Given the description of an element on the screen output the (x, y) to click on. 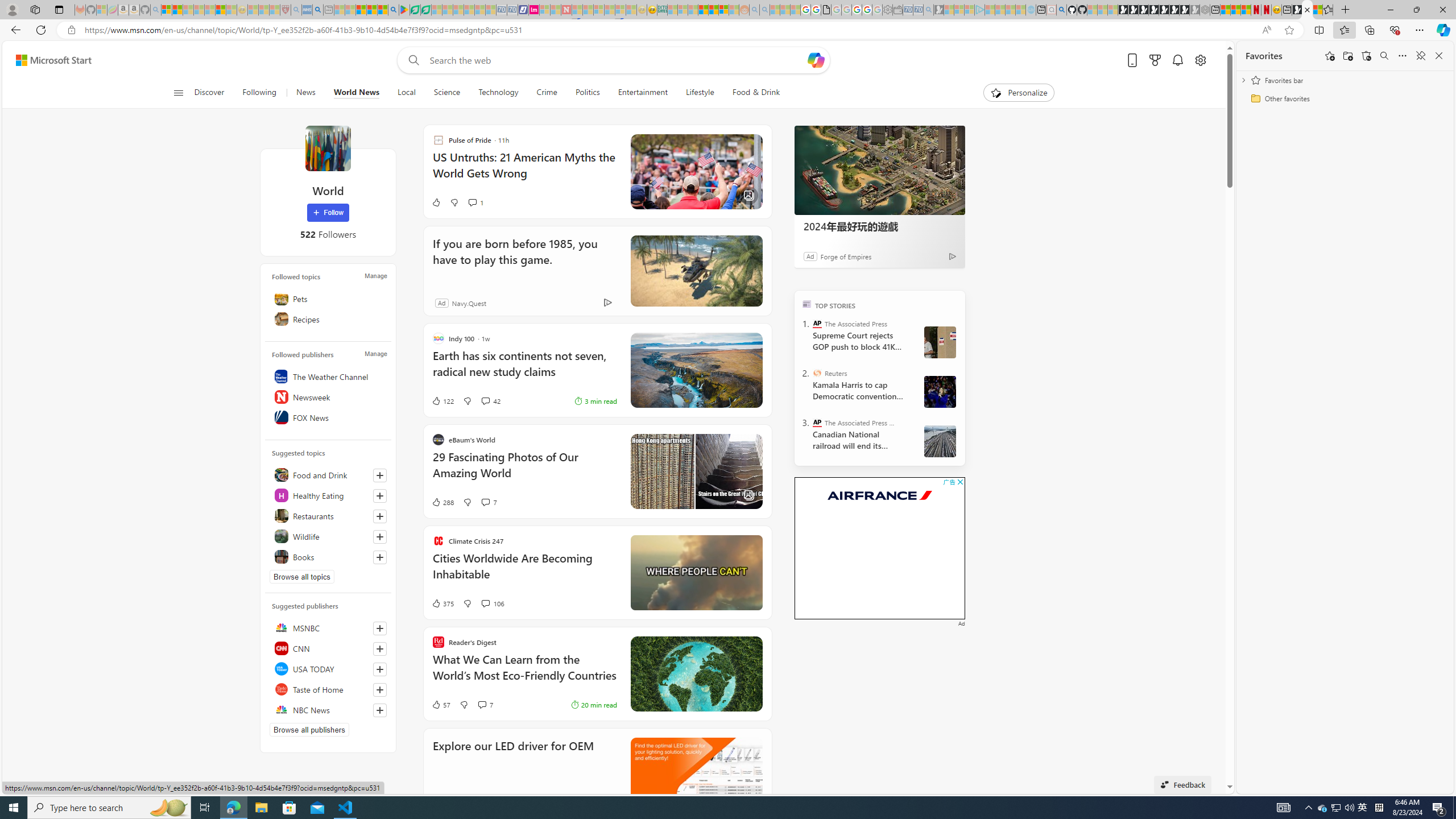
Lifestyle (699, 92)
Entertainment (642, 92)
Browse all topics (301, 576)
Home | Sky Blue Bikes - Sky Blue Bikes - Sleeping (1030, 9)
World - MSN (1307, 9)
Explore our LED driver for OEM (696, 773)
Science (446, 92)
Wildlife (327, 536)
Add folder (1347, 55)
